Given the description of an element on the screen output the (x, y) to click on. 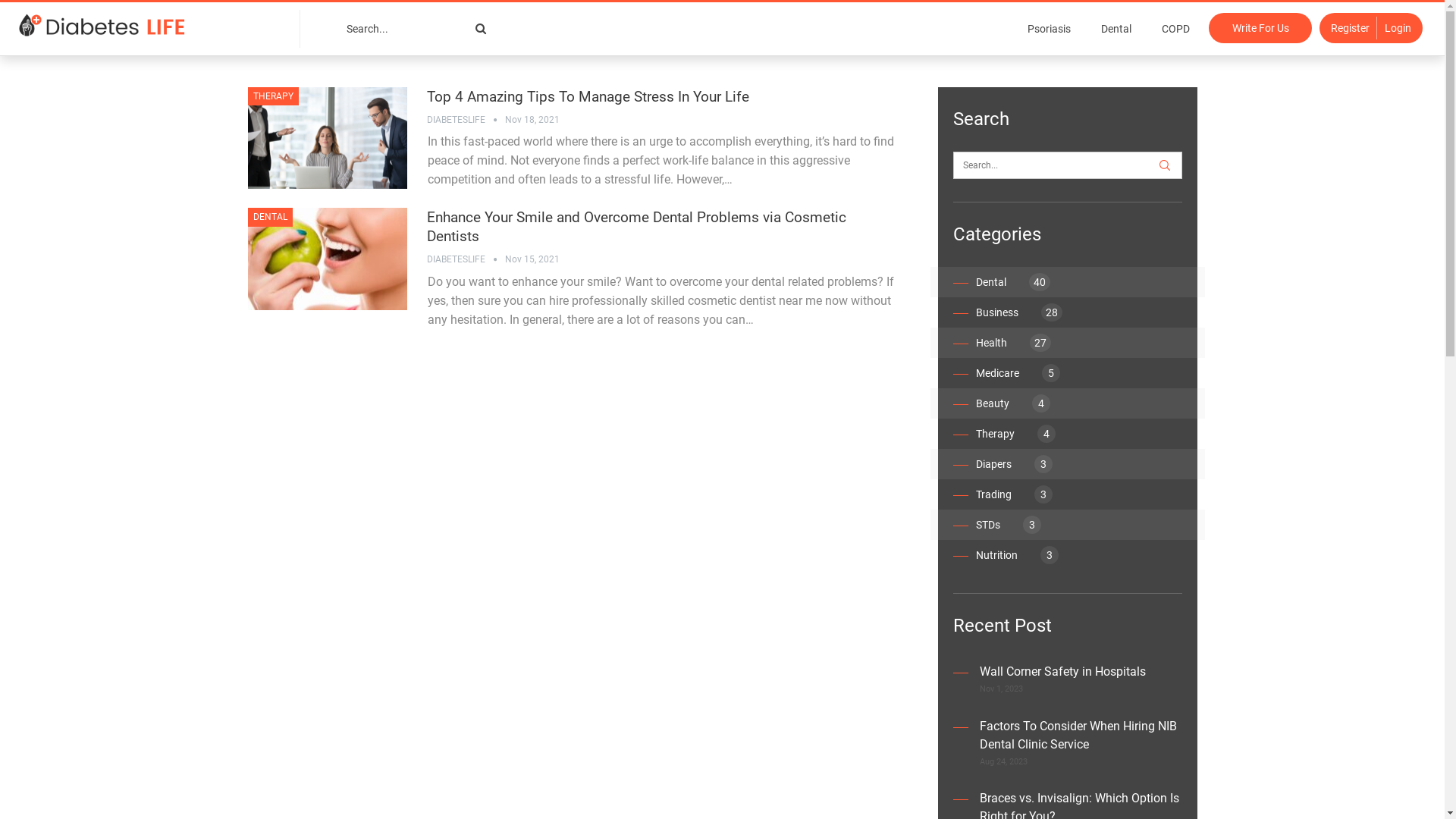
Login Element type: text (1399, 27)
Recent Post Element type: text (1001, 625)
Trading3 Element type: text (1013, 494)
Wall Corner Safety in Hospitals Element type: text (1062, 671)
Psoriasis Element type: text (1048, 28)
Dental Element type: text (1116, 28)
COPD Element type: text (1175, 28)
Factors To Consider When Hiring NIB Dental Clinic Service Element type: text (1077, 734)
Search for: Element type: hover (1066, 164)
Beauty4 Element type: text (1012, 403)
THERAPY Element type: text (272, 96)
DENTAL Element type: text (269, 216)
DIABETESLIFE Element type: text (465, 259)
Health27 Element type: text (1012, 342)
Diapers3 Element type: text (1013, 464)
STDs3 Element type: text (1007, 524)
Write For Us Element type: text (1259, 27)
Search Element type: text (484, 28)
Business28 Element type: text (1018, 312)
DIABETESLIFE Element type: text (465, 119)
Top 4 Amazing Tips To Manage Stress In Your Life Element type: text (587, 96)
Nutrition3 Element type: text (1016, 555)
Medicare5 Element type: text (1017, 373)
Top 4 Amazing Tips To Manage Stress In Your Life Element type: hover (326, 137)
Search Element type: text (1163, 164)
Therapy4 Element type: text (1014, 433)
Search for: Element type: hover (416, 28)
Register Element type: text (1348, 27)
Dental40 Element type: text (1012, 282)
